Given the description of an element on the screen output the (x, y) to click on. 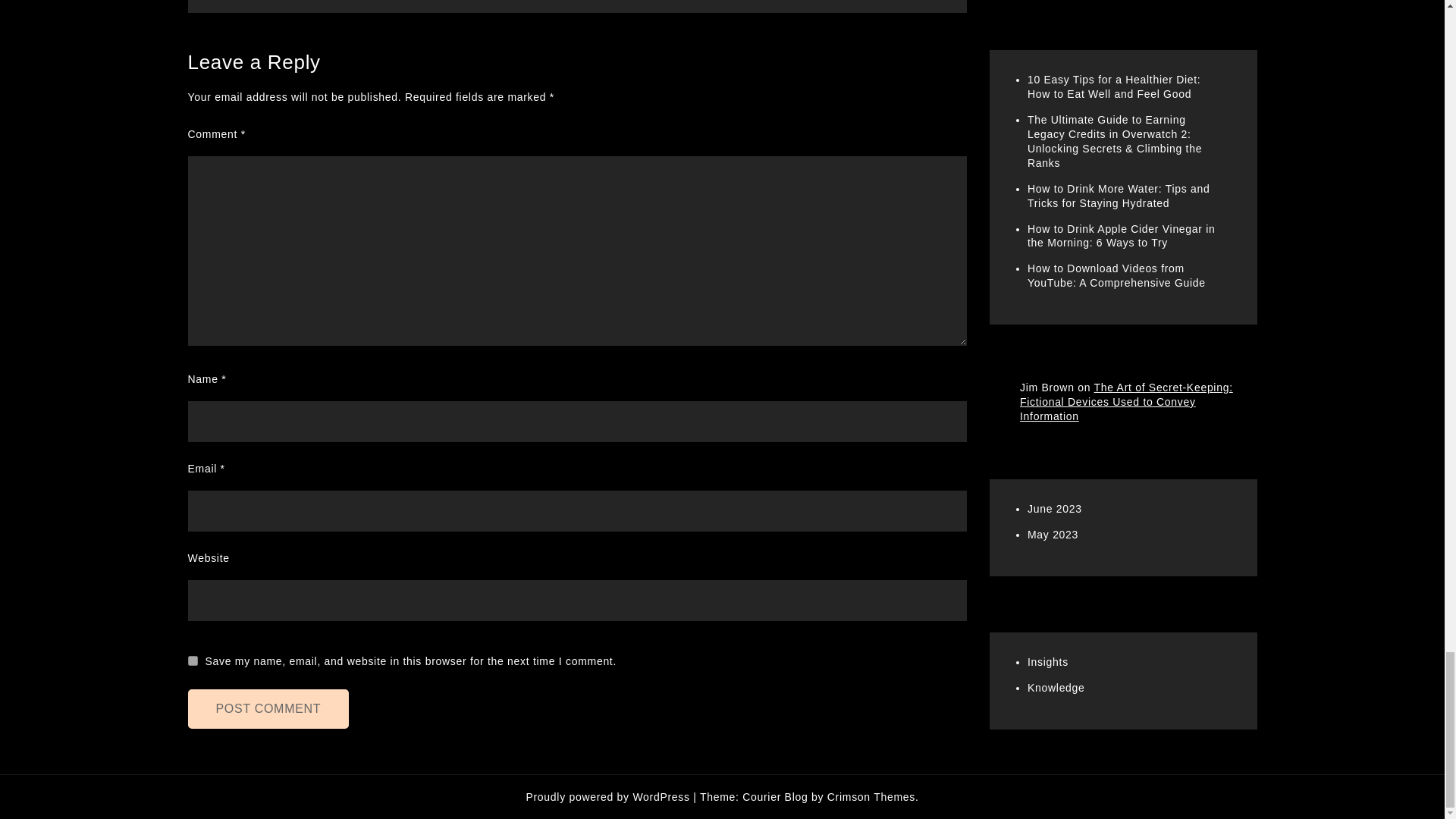
yes (192, 660)
Post Comment (268, 708)
Post Comment (268, 708)
